Given the description of an element on the screen output the (x, y) to click on. 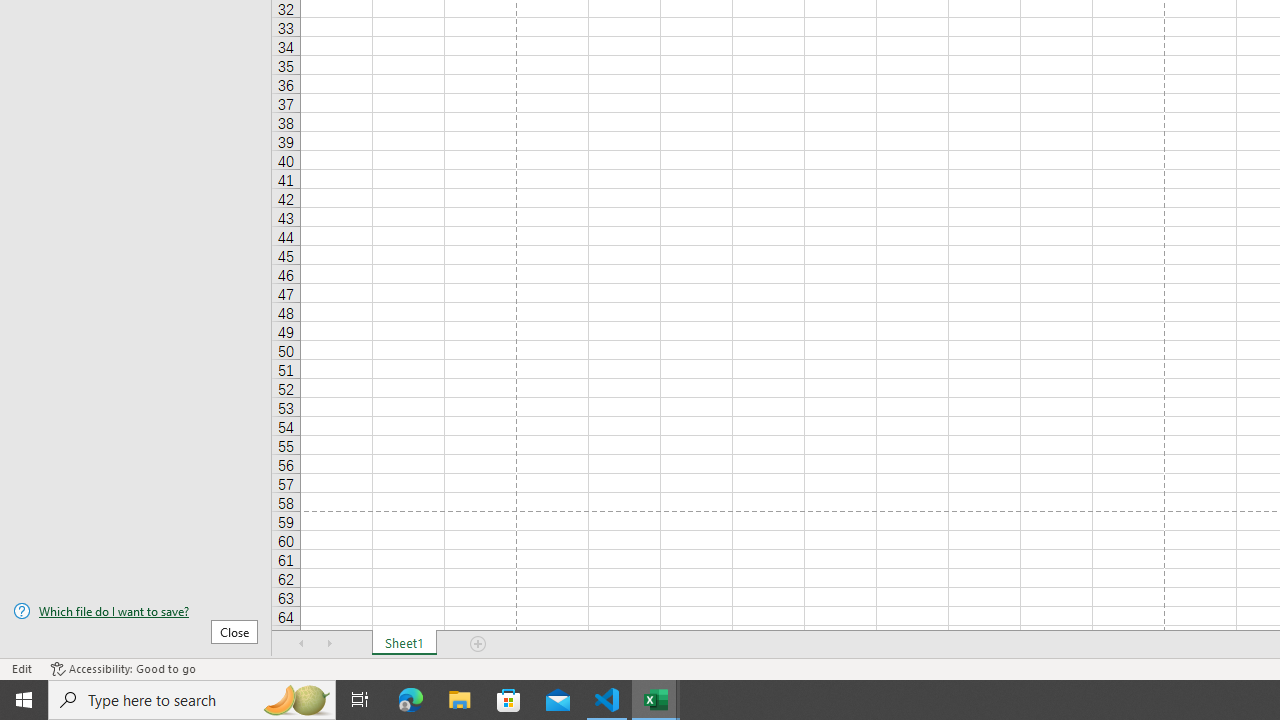
Microsoft Store (509, 699)
Task View (359, 699)
Visual Studio Code - 1 running window (607, 699)
Type here to search (191, 699)
Excel - 2 running windows (656, 699)
File Explorer (460, 699)
Microsoft Edge (411, 699)
